Given the description of an element on the screen output the (x, y) to click on. 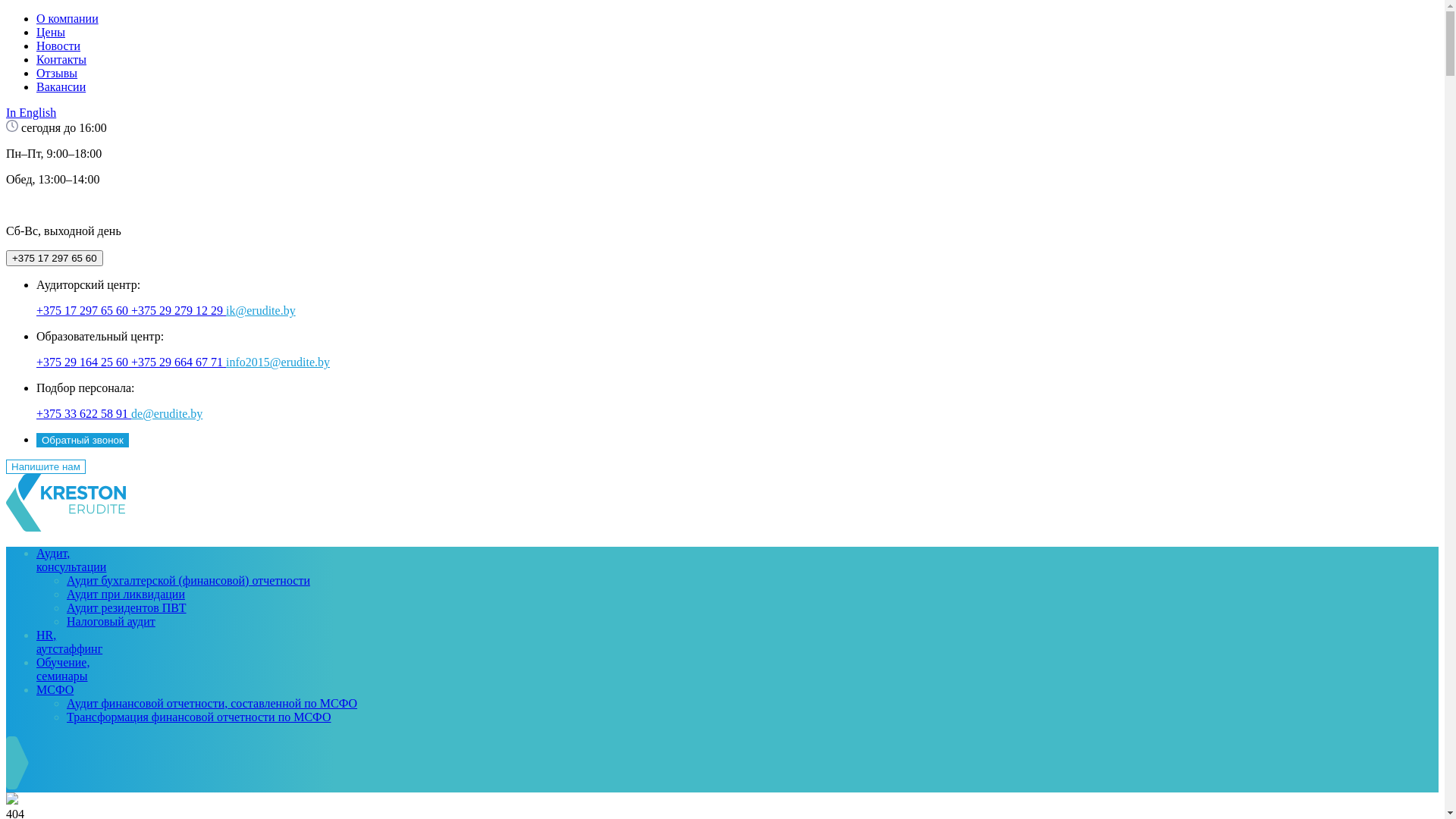
+375 17 297 65 60 Element type: text (54, 258)
+375 29 279 12 29 Element type: text (178, 310)
info2015@erudite.by Element type: text (277, 361)
ik@erudite.by Element type: text (260, 310)
+375 29 664 67 71 Element type: text (178, 361)
+375 29 164 25 60 Element type: text (83, 361)
+375 17 297 65 60 Element type: text (83, 310)
+375 33 622 58 91 Element type: text (83, 413)
In English Element type: text (31, 112)
de@erudite.by Element type: text (166, 413)
